Given the description of an element on the screen output the (x, y) to click on. 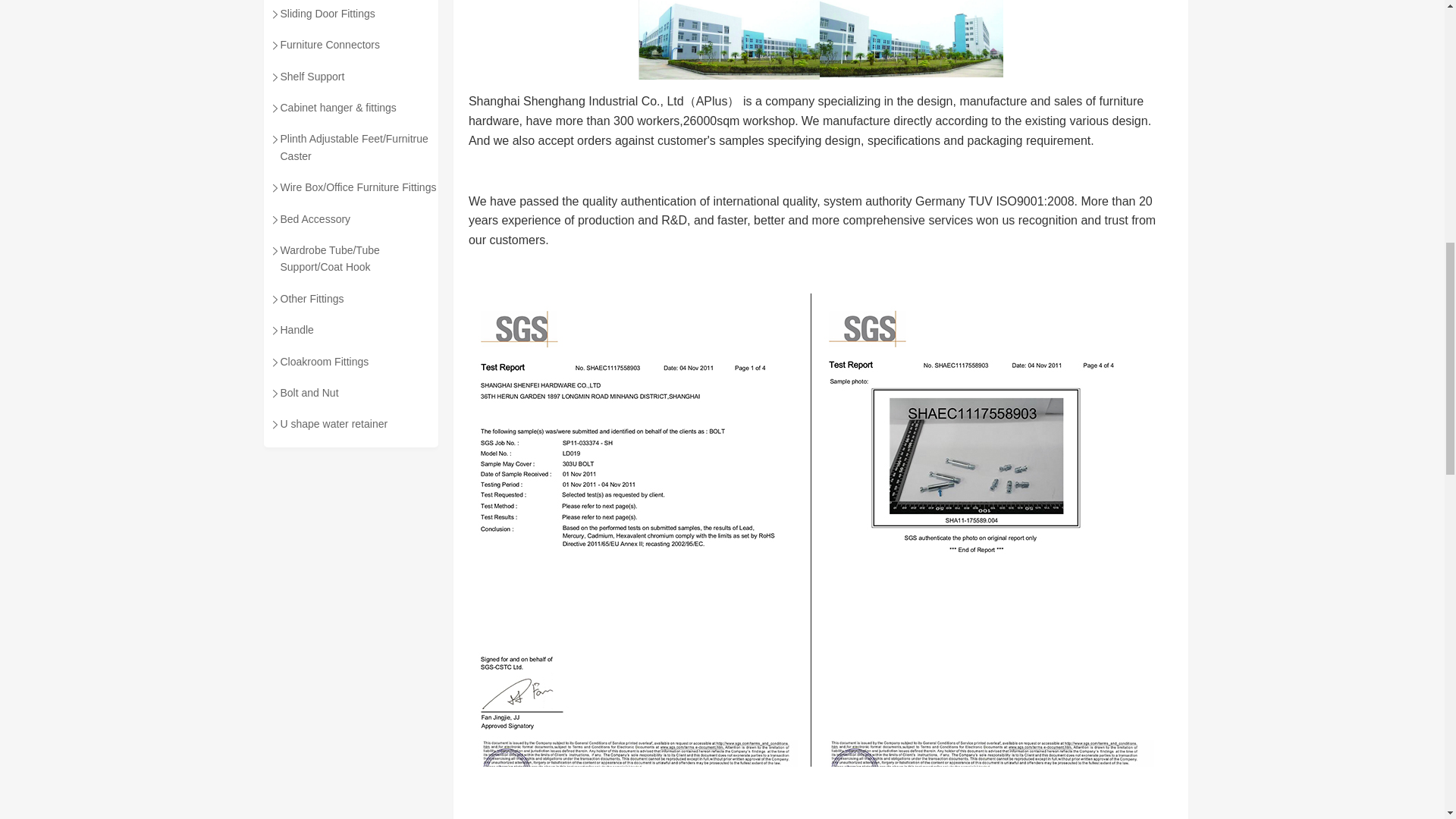
1563666821271347.png (911, 38)
1563666813498497.png (729, 39)
